Given the description of an element on the screen output the (x, y) to click on. 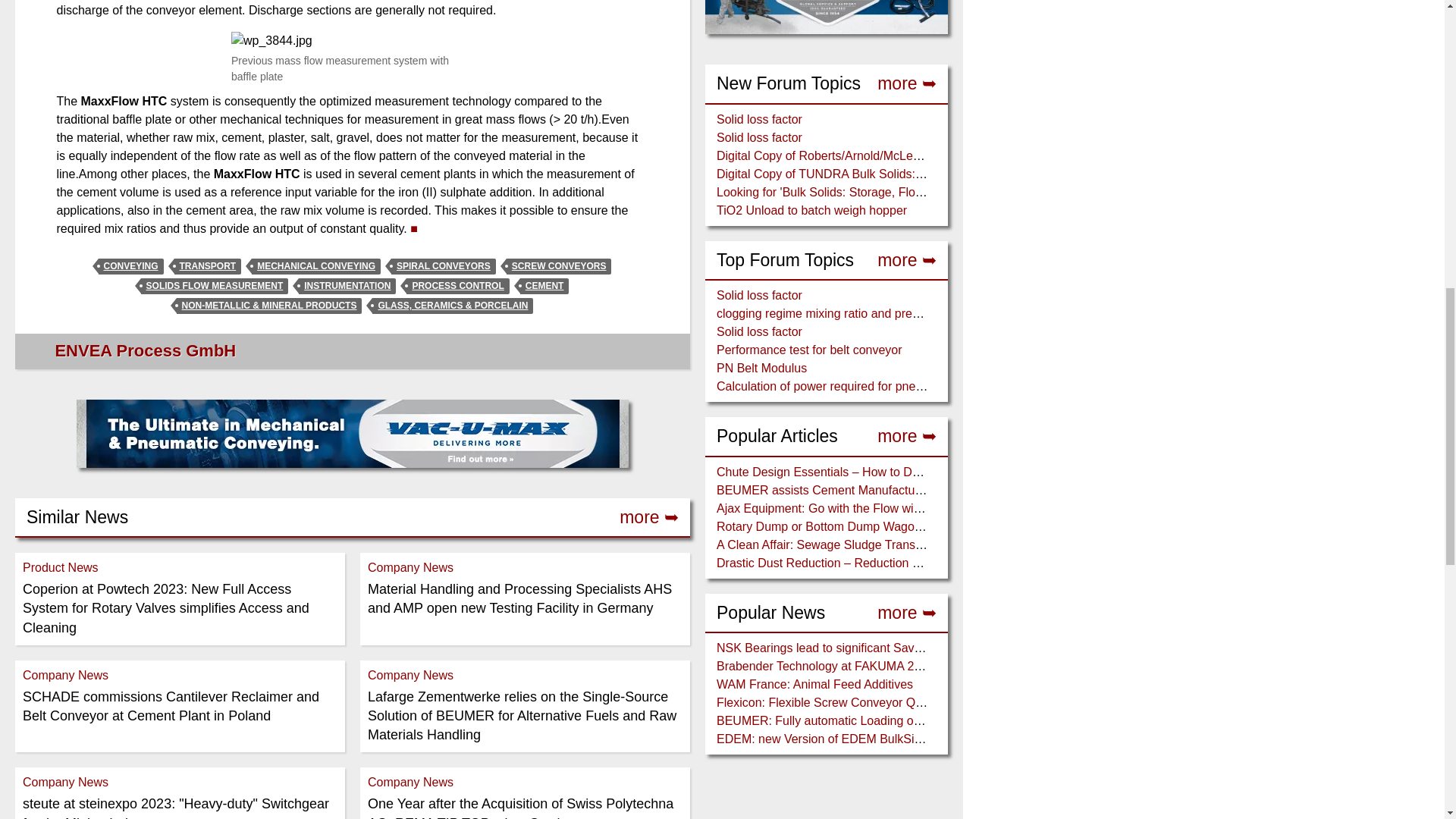
Link to the bulk-online user forum (906, 436)
Link to the bulk-online user forum (906, 612)
Link to the bulk-online user forum (906, 83)
Link to the bulk-online user forum (906, 260)
ENVEA Process GmbH (145, 350)
